Given the description of an element on the screen output the (x, y) to click on. 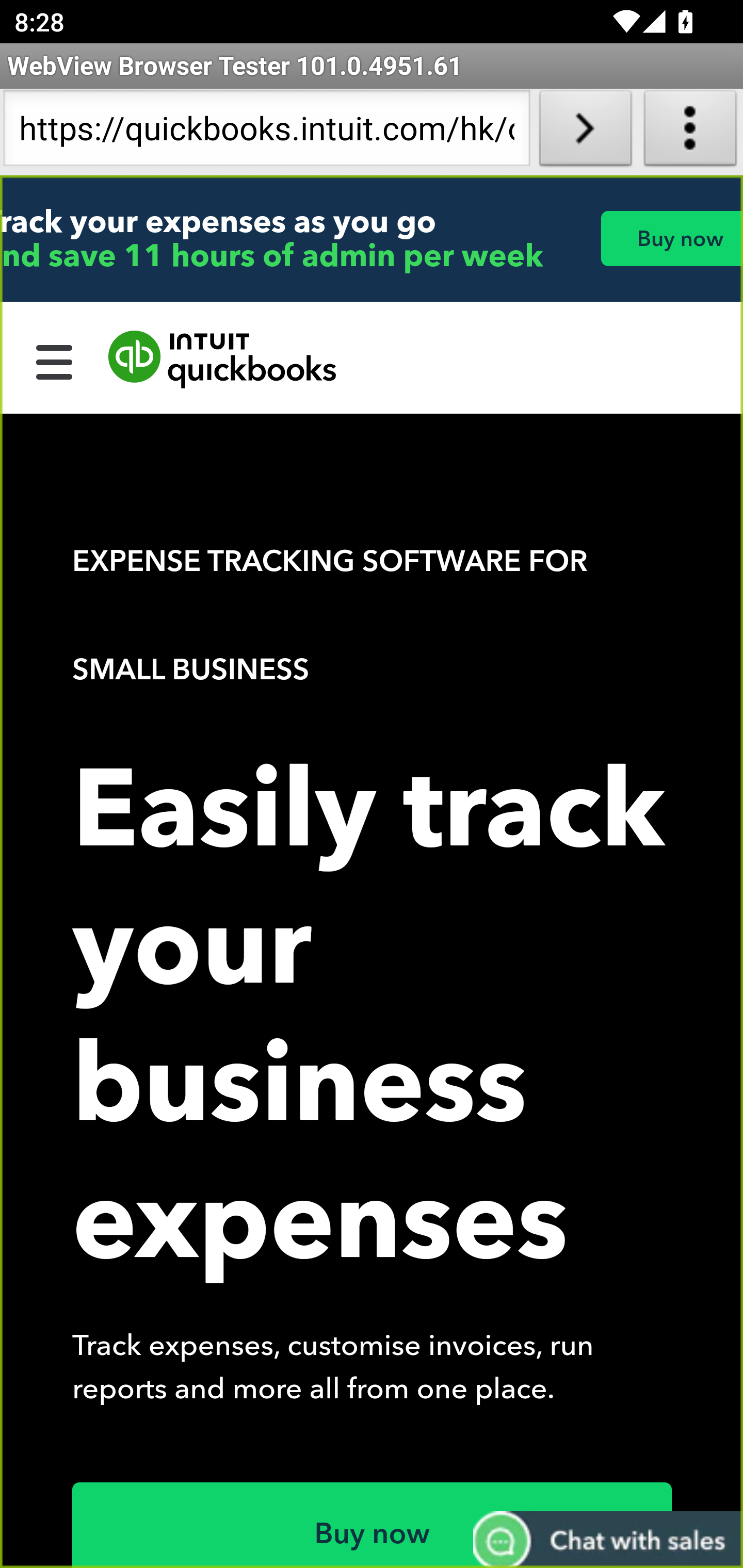
Load URL (585, 132)
About WebView (690, 132)
Buy now (671, 238)
quickbooks-mobile-burger (54, 359)
quickbooks (222, 359)
Buy now (372, 1524)
